Given the description of an element on the screen output the (x, y) to click on. 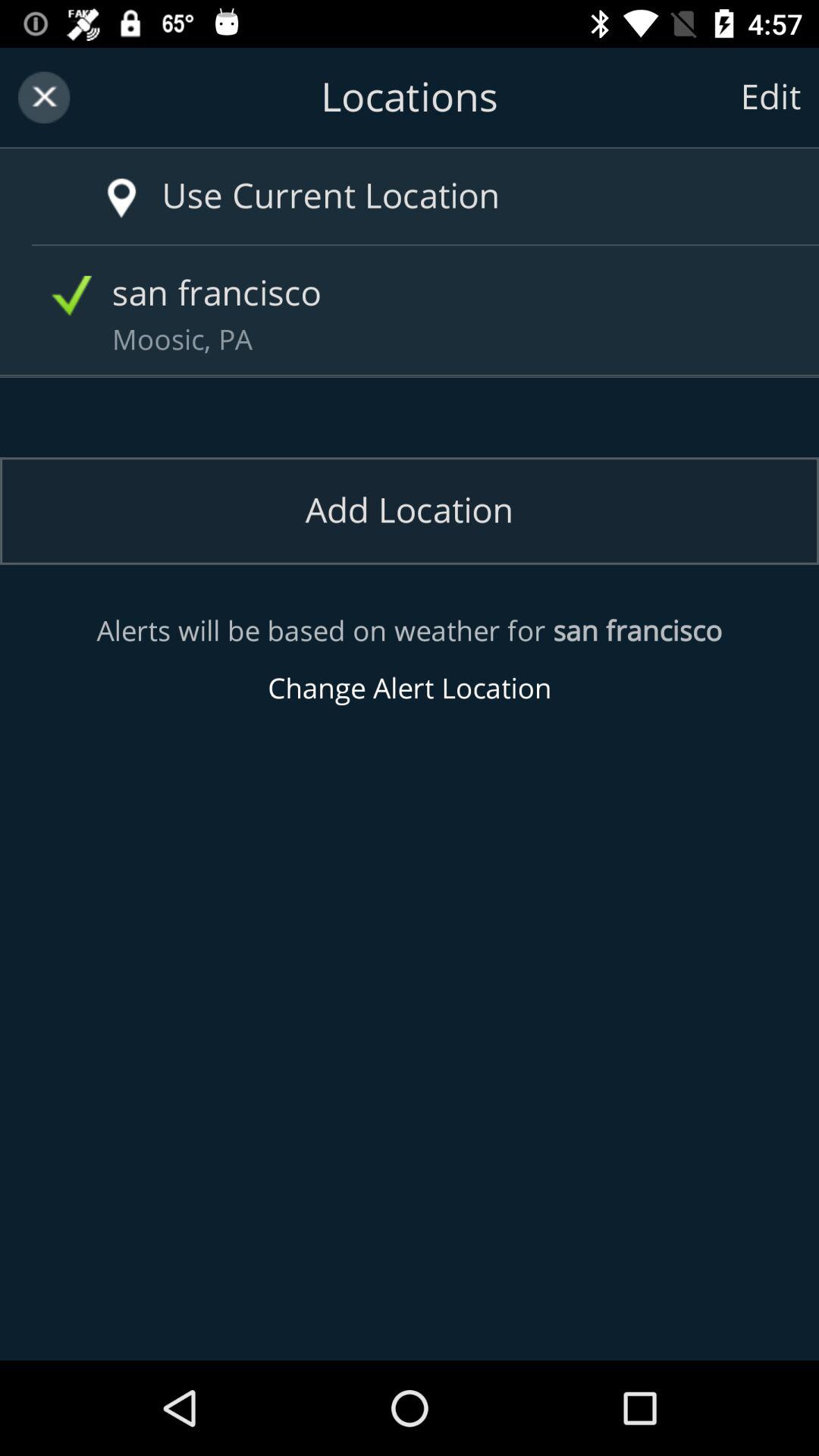
locator oprion (99, 182)
